Given the description of an element on the screen output the (x, y) to click on. 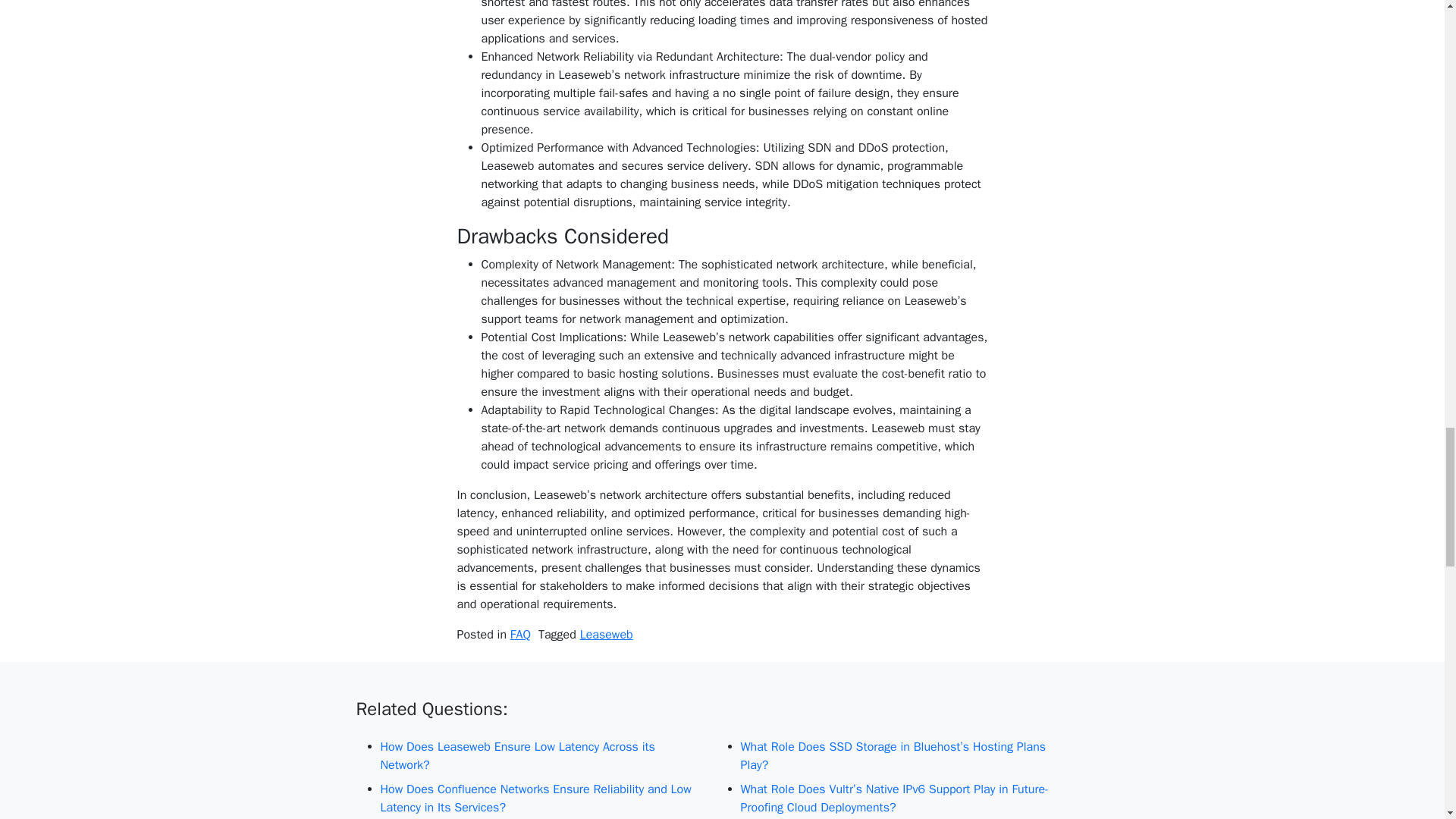
FAQ (521, 634)
How Does Leaseweb Ensure Low Latency Across its Network? (542, 755)
How Does Leaseweb Ensure Low Latency Across its Network? (542, 755)
Leaseweb (606, 634)
